Given the description of an element on the screen output the (x, y) to click on. 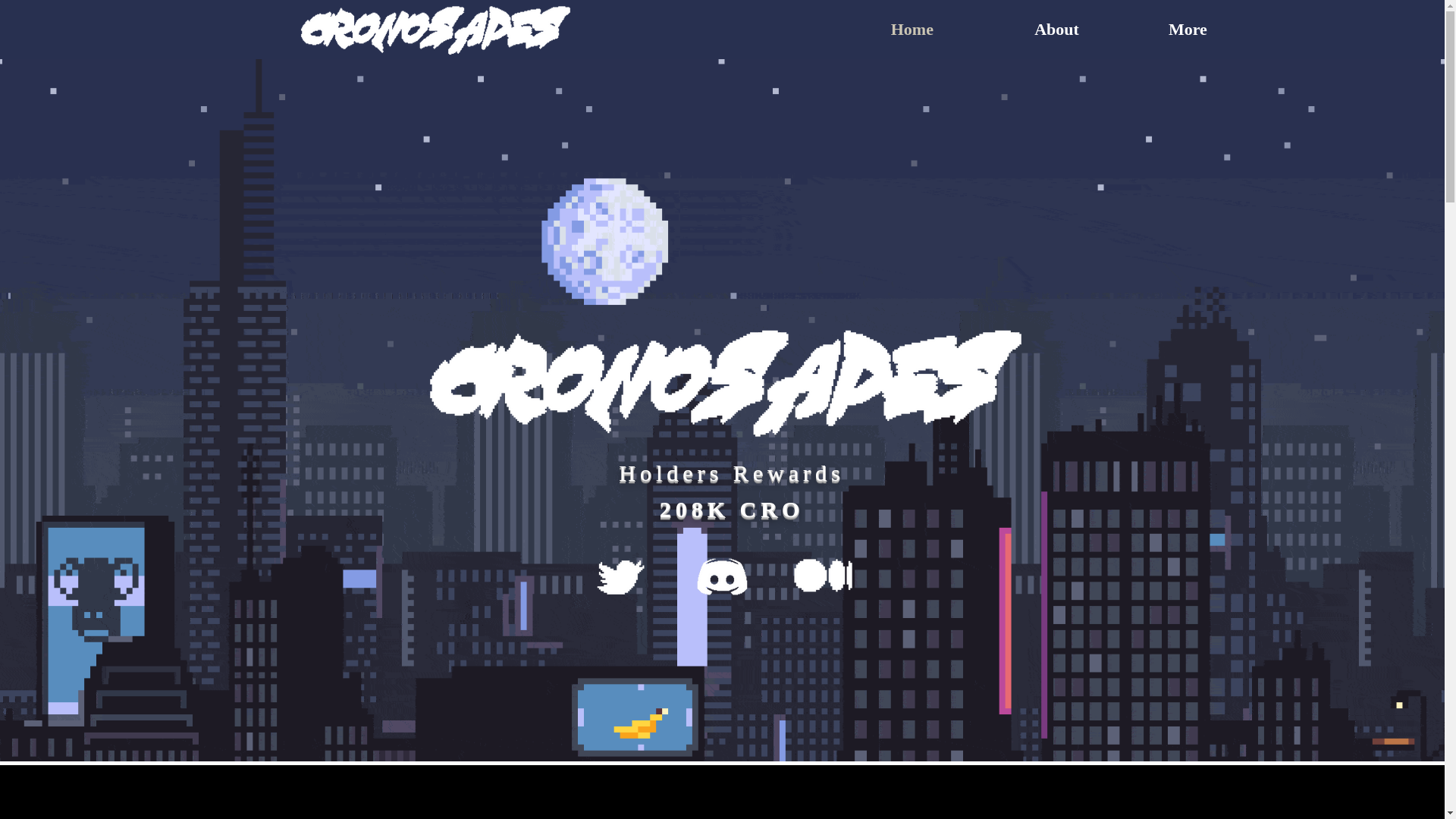
Twitter logo.png (617, 577)
Cronos Apes5.png (725, 383)
Cronos Apes5.png (435, 28)
About (1017, 29)
Home (879, 29)
Medium Logo.png (823, 574)
